Given the description of an element on the screen output the (x, y) to click on. 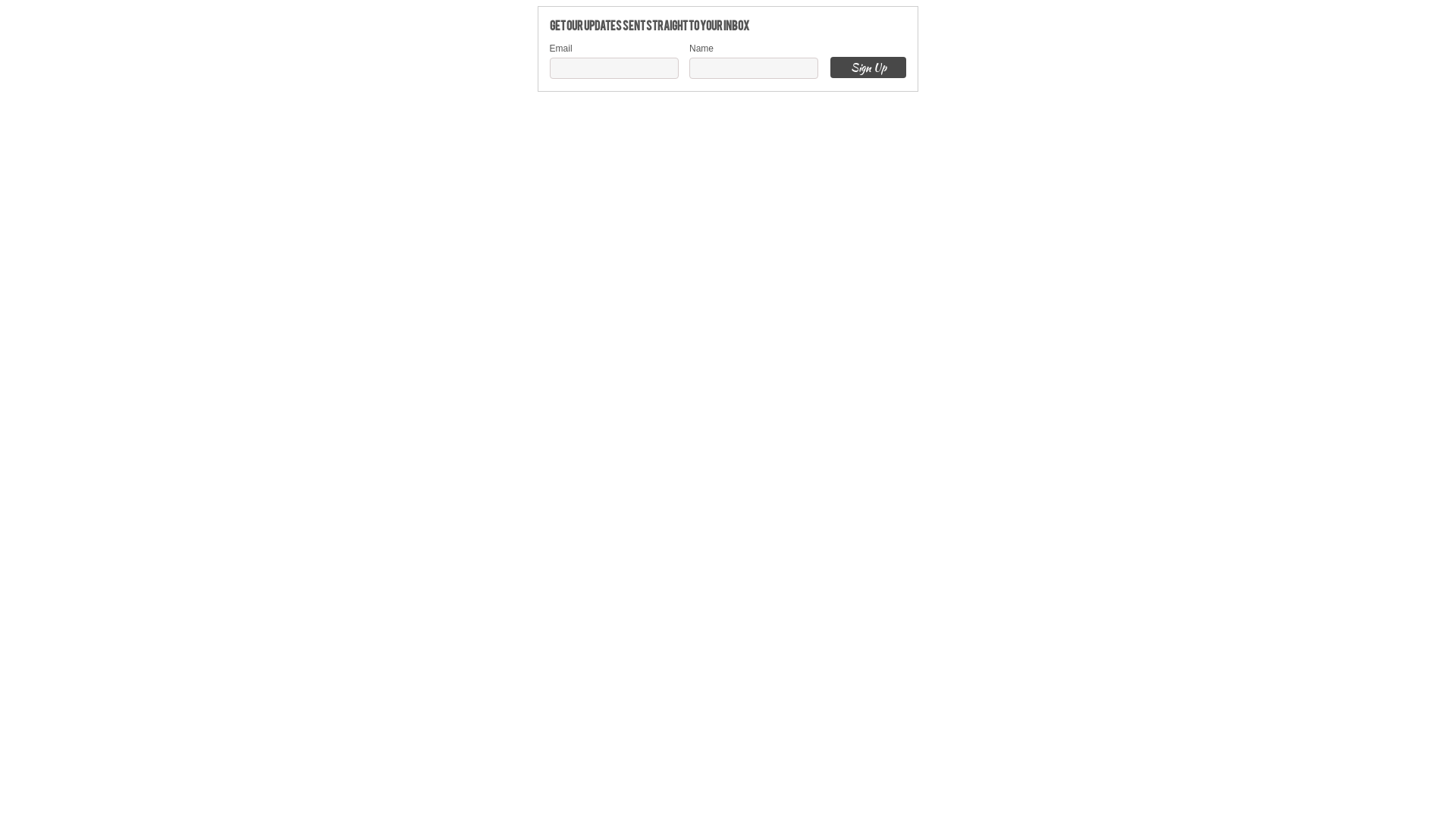
Sign Up Element type: text (868, 67)
